Given the description of an element on the screen output the (x, y) to click on. 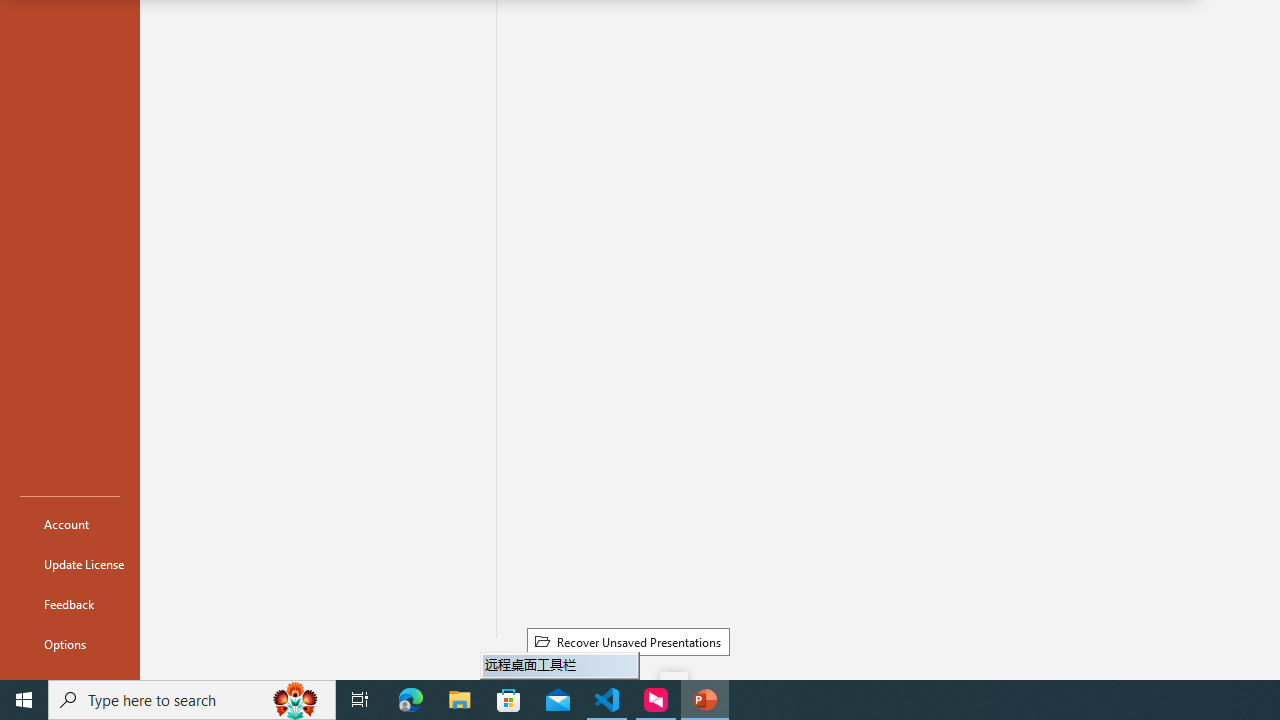
Account (69, 523)
Feedback (69, 603)
Recover Unsaved Presentations (628, 641)
Options (69, 643)
Update License (69, 563)
